Given the description of an element on the screen output the (x, y) to click on. 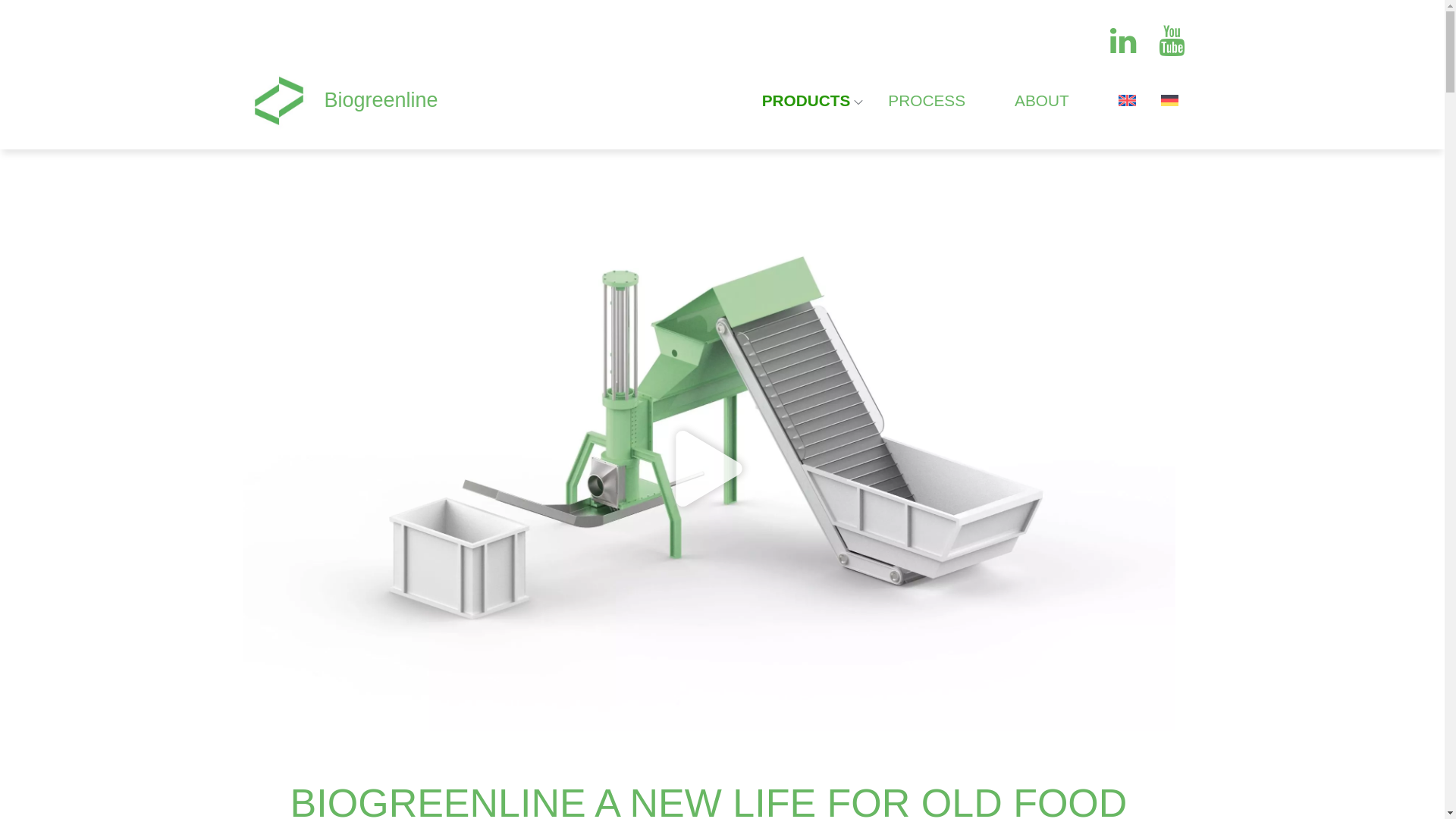
PROCESS Element type: text (926, 100)
Biogreenline Element type: text (381, 99)
ABOUT Element type: text (1041, 100)
PRODUCTS Element type: text (812, 100)
